Given the description of an element on the screen output the (x, y) to click on. 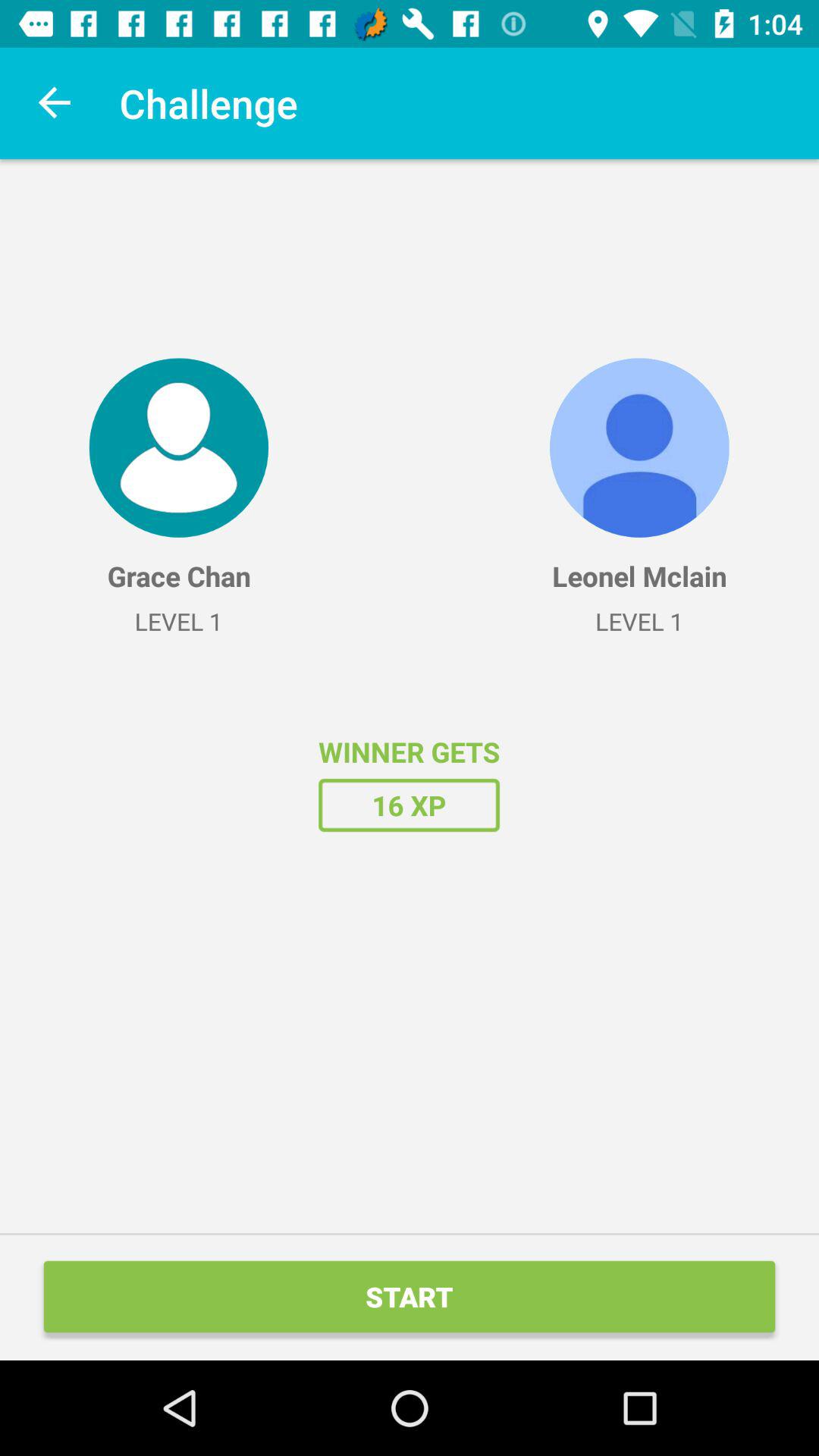
contact details (178, 447)
